Given the description of an element on the screen output the (x, y) to click on. 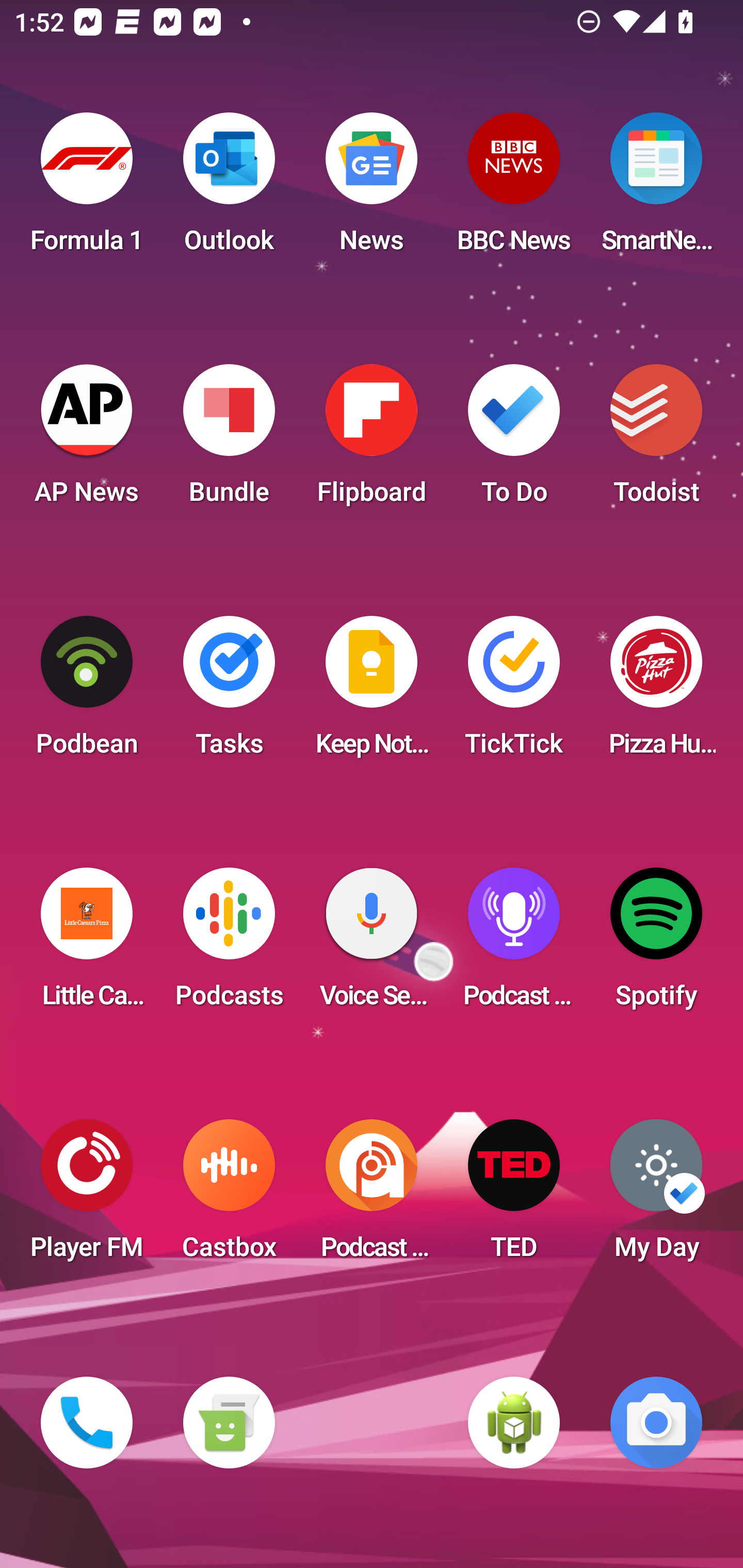
Formula 1 (86, 188)
Outlook (228, 188)
News (371, 188)
BBC News (513, 188)
SmartNews (656, 188)
AP News (86, 440)
Bundle (228, 440)
Flipboard (371, 440)
To Do (513, 440)
Todoist (656, 440)
Podbean (86, 692)
Tasks (228, 692)
Keep Notes (371, 692)
TickTick (513, 692)
Pizza Hut HK & Macau (656, 692)
Little Caesars Pizza (86, 943)
Podcasts (228, 943)
Voice Search (371, 943)
Podcast Player (513, 943)
Spotify (656, 943)
Player FM (86, 1195)
Castbox (228, 1195)
Podcast Addict (371, 1195)
TED (513, 1195)
My Day (656, 1195)
Phone (86, 1422)
Messaging (228, 1422)
WebView Browser Tester (513, 1422)
Camera (656, 1422)
